Given the description of an element on the screen output the (x, y) to click on. 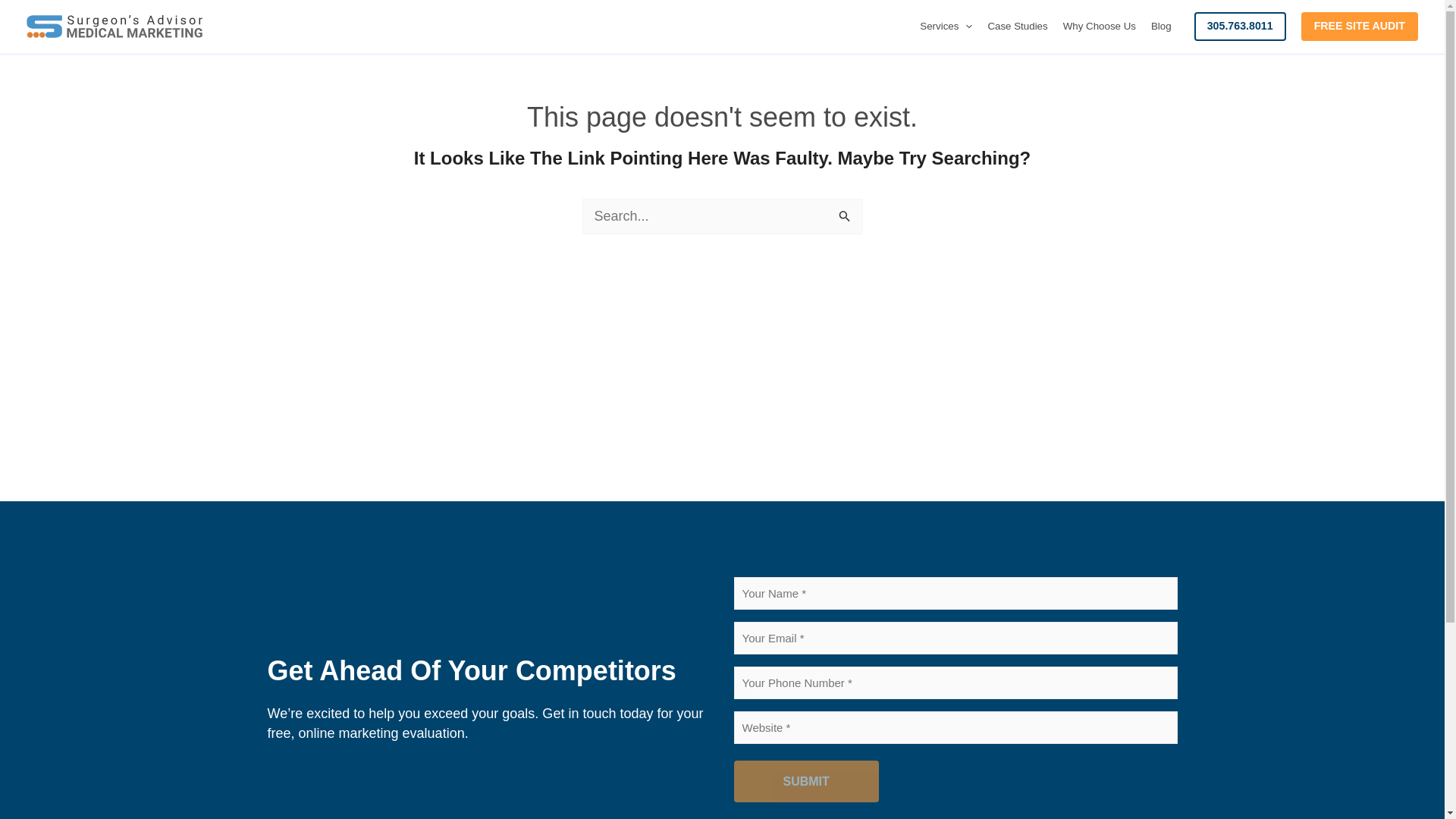
Services (945, 26)
Case Studies (1016, 26)
Plastic Surgery Marketing Case Studies (1016, 26)
Why Choose Us (1098, 26)
Why Choose Us (1098, 26)
SUBMIT (806, 781)
